Given the description of an element on the screen output the (x, y) to click on. 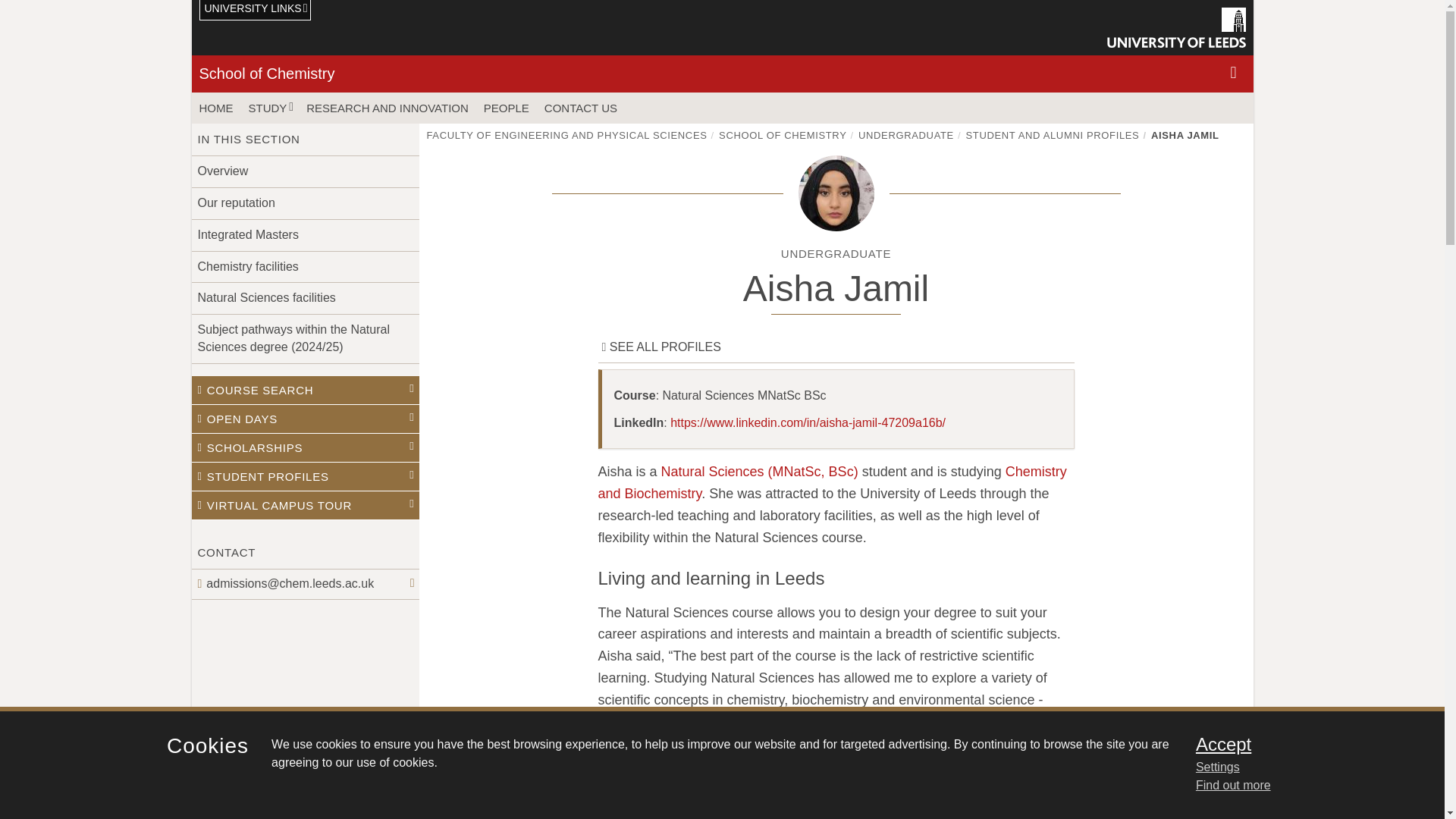
UNIVERSITY LINKS (254, 10)
Settings (1300, 767)
University of Leeds homepage (1176, 27)
Find out more (1233, 784)
Accept (1300, 744)
